Given the description of an element on the screen output the (x, y) to click on. 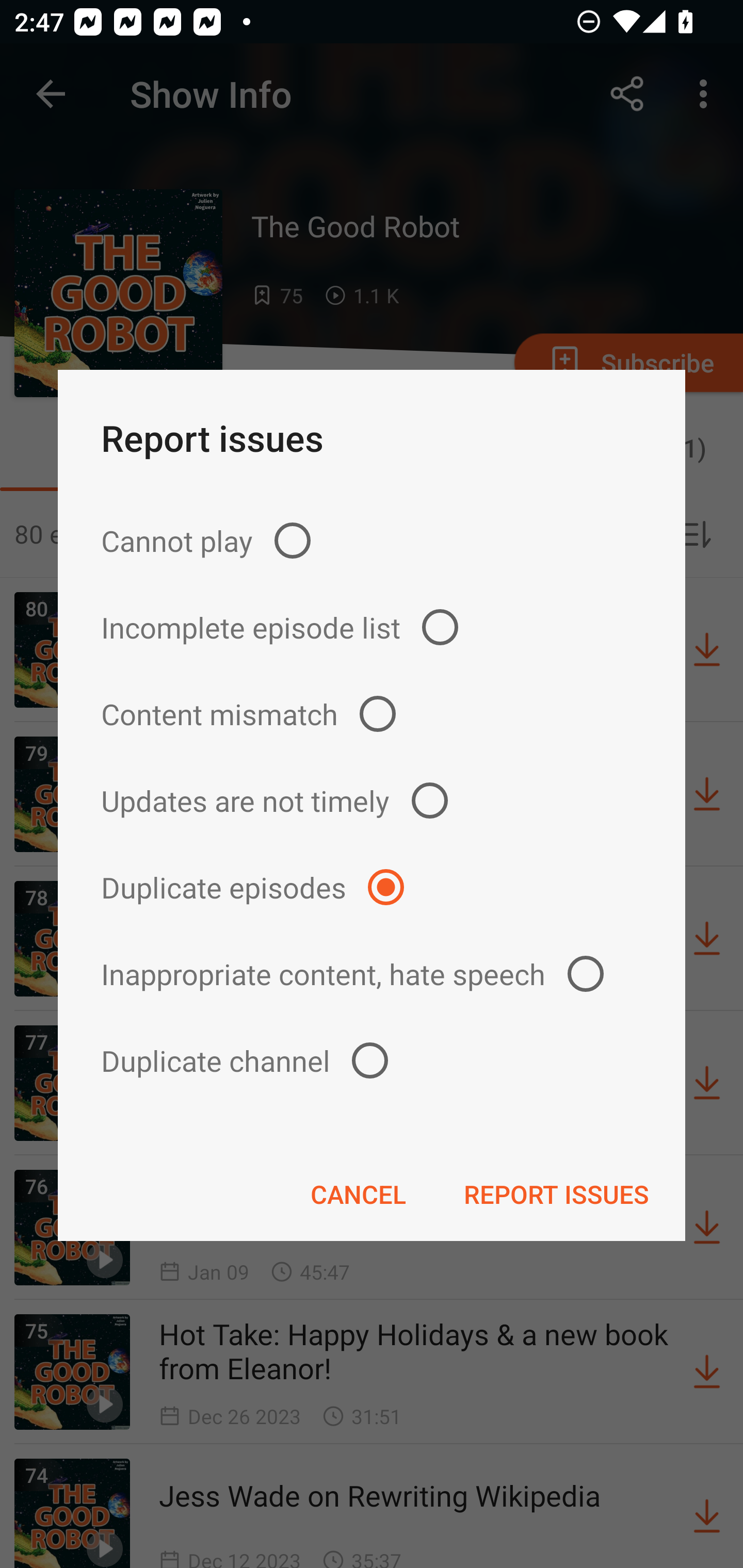
Cannot play (371, 540)
Incomplete episode list (371, 627)
Content mismatch (371, 714)
Updates are not timely (371, 800)
Duplicate episodes (371, 886)
Inappropriate content, hate speech (371, 973)
Duplicate channel (371, 1060)
CANCEL (357, 1193)
REPORT ISSUES (555, 1193)
